Given the description of an element on the screen output the (x, y) to click on. 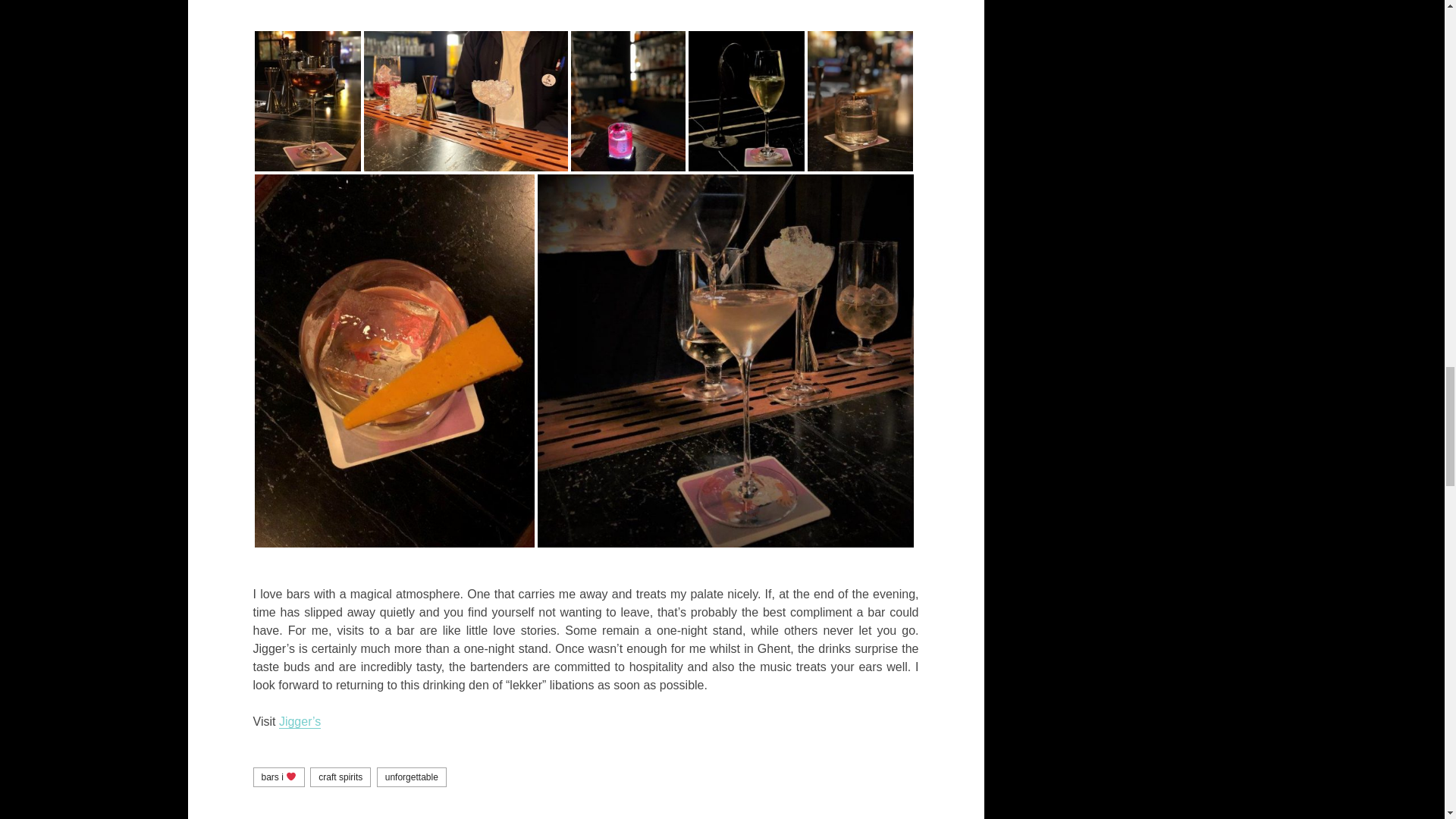
Tagged (465, 101)
